Given the description of an element on the screen output the (x, y) to click on. 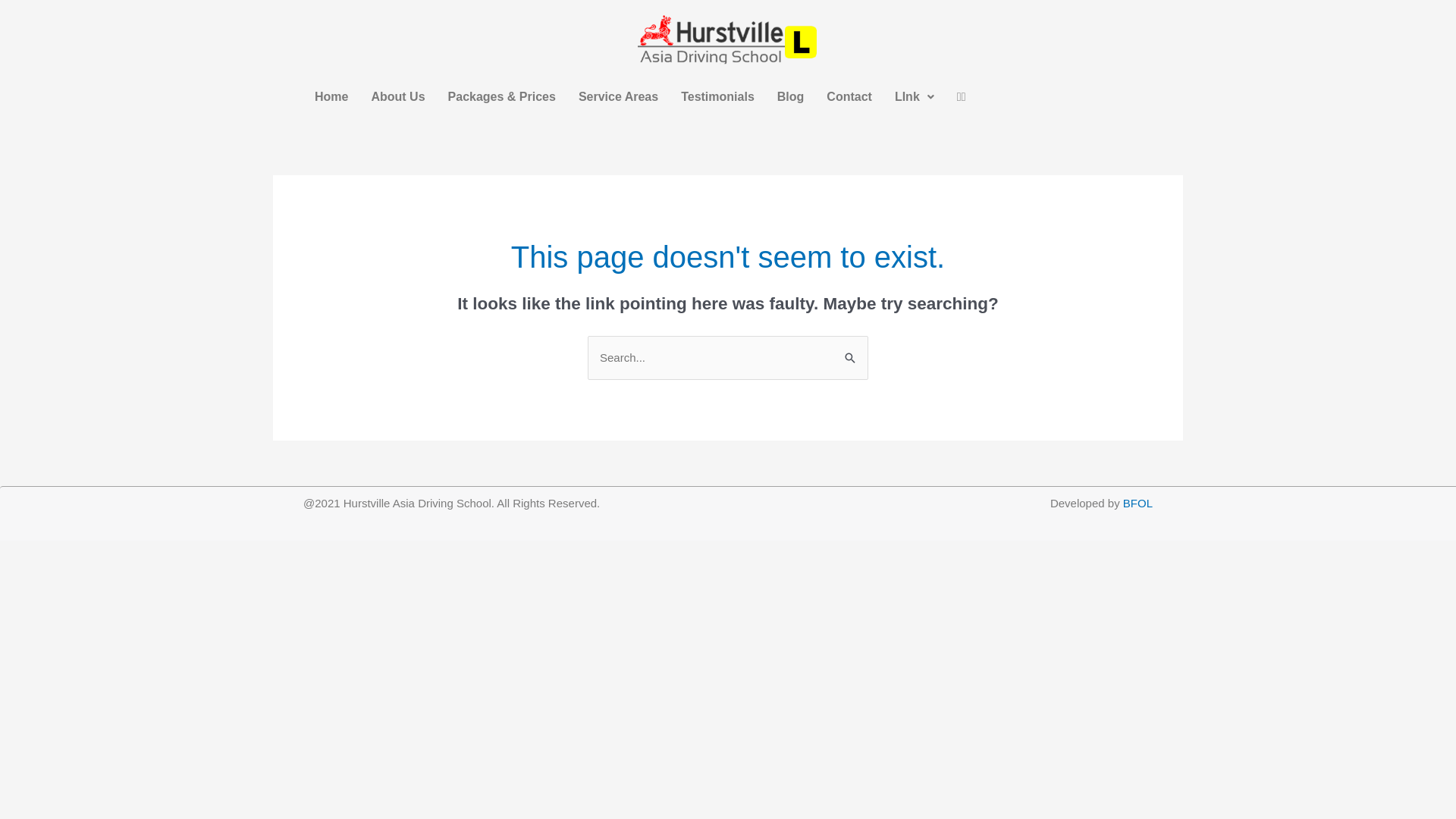
Contact Element type: text (849, 96)
LInk Element type: text (914, 96)
Packages & Prices Element type: text (501, 96)
Service Areas Element type: text (618, 96)
Search Element type: text (851, 351)
Blog Element type: text (790, 96)
Home Element type: text (331, 96)
BFOL Element type: text (1137, 502)
About Us Element type: text (397, 96)
Testimonials Element type: text (717, 96)
